Given the description of an element on the screen output the (x, y) to click on. 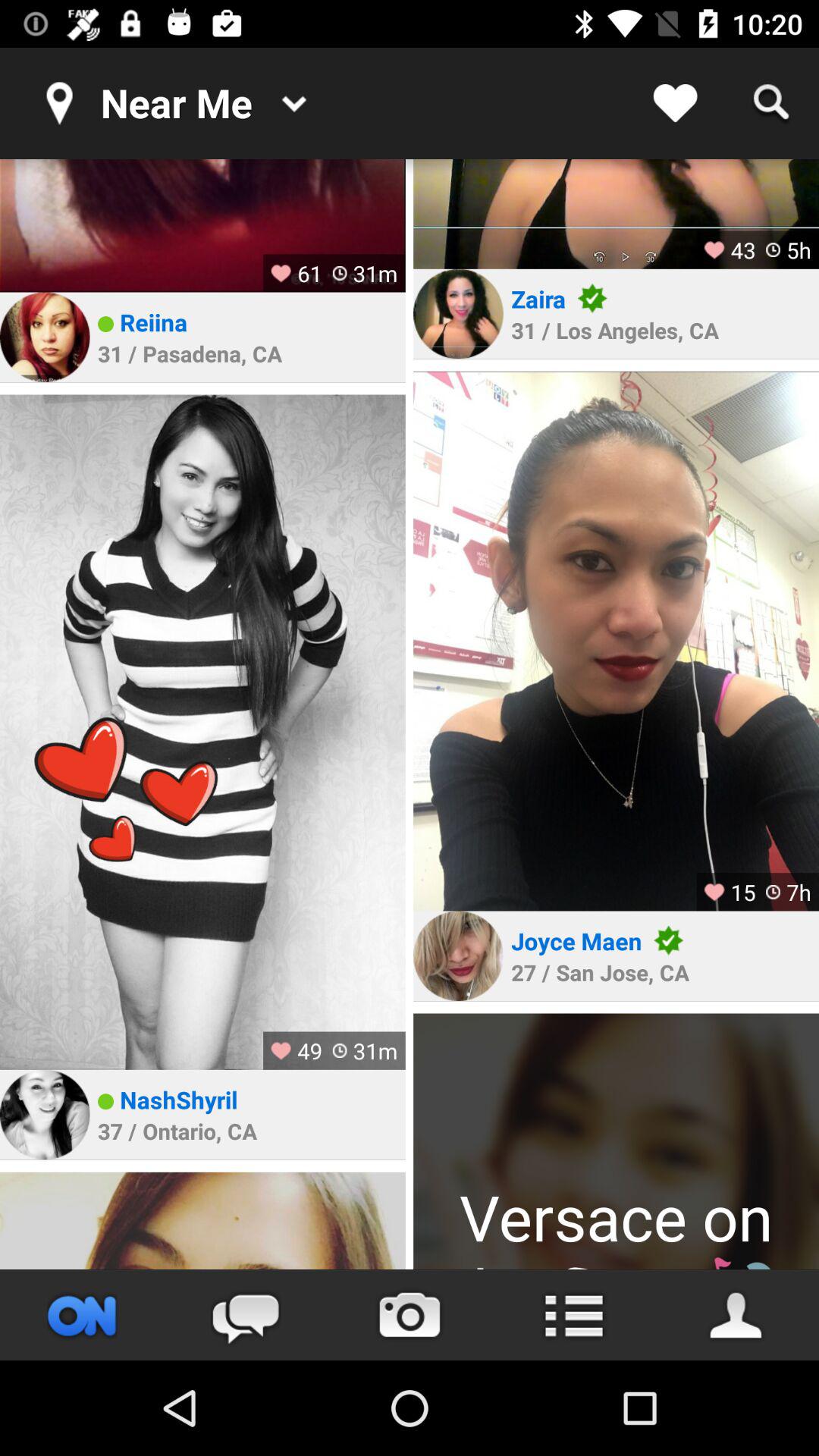
jump to the zaira (538, 298)
